Given the description of an element on the screen output the (x, y) to click on. 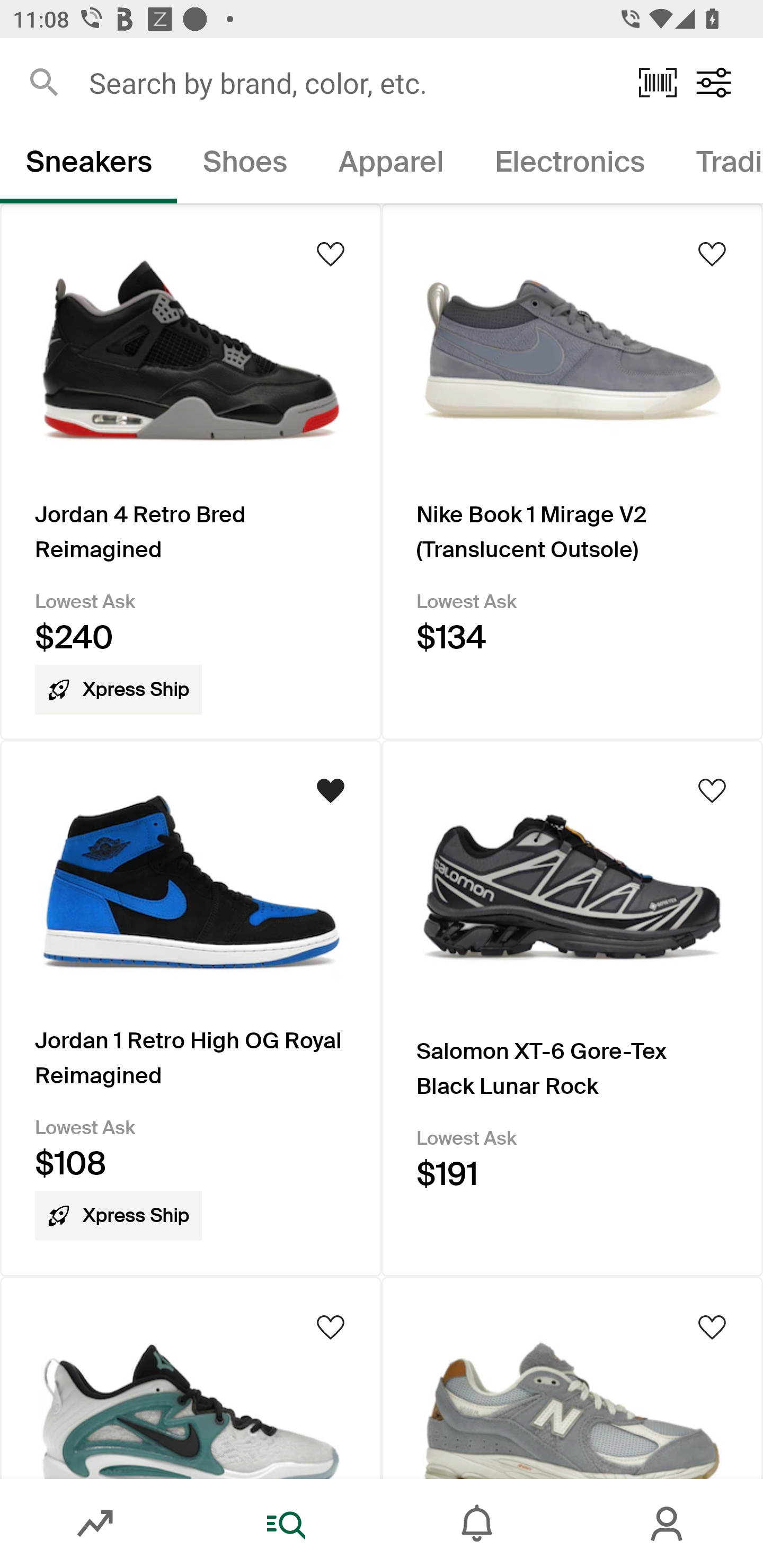
Search by brand, color, etc. (351, 82)
Shoes (244, 165)
Apparel (390, 165)
Electronics (569, 165)
Product Image (190, 1377)
Product Image (572, 1377)
Market (95, 1523)
Inbox (476, 1523)
Account (667, 1523)
